Given the description of an element on the screen output the (x, y) to click on. 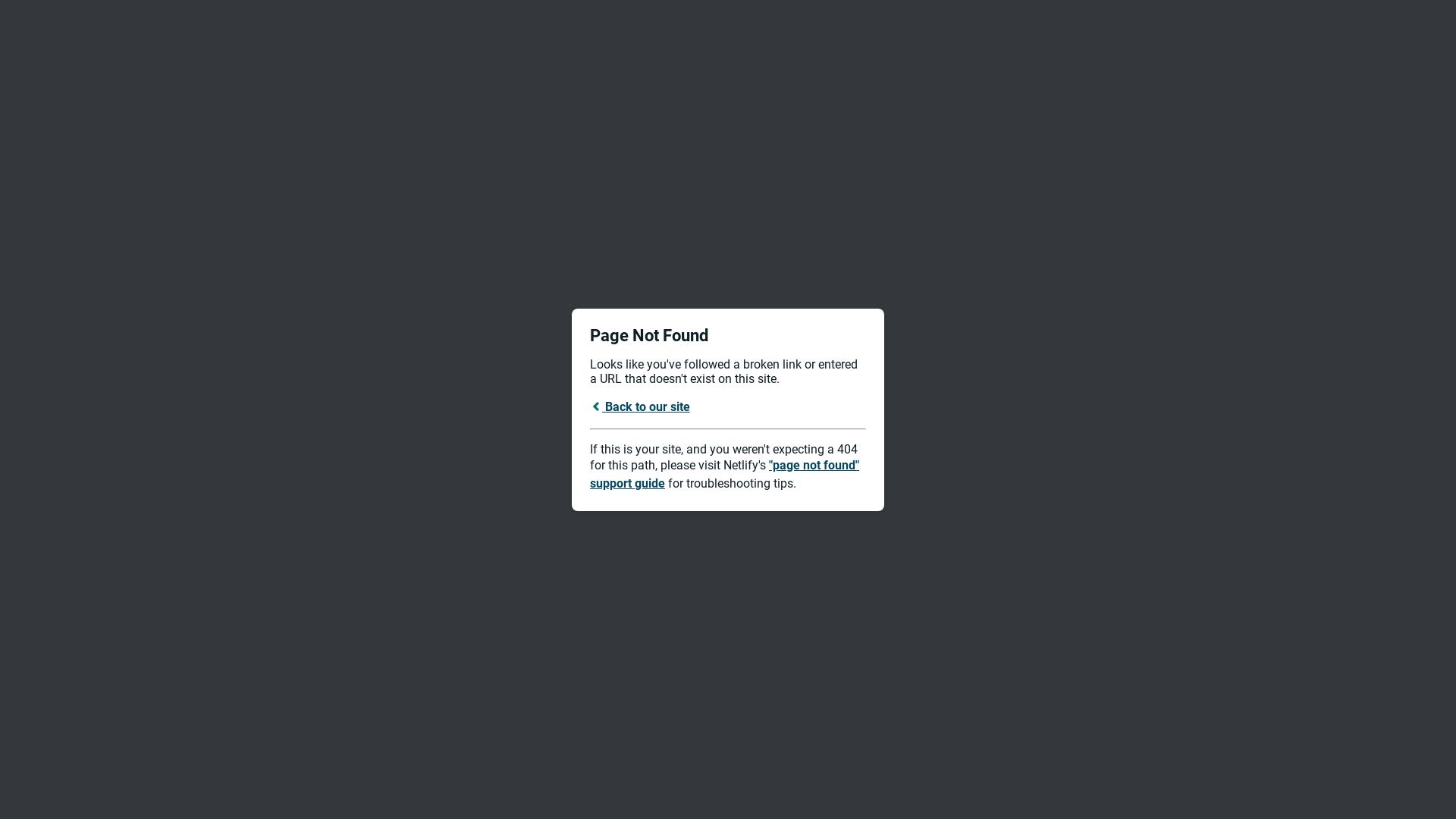
Back to our site Element type: text (639, 405)
"page not found" support guide Element type: text (724, 474)
